Given the description of an element on the screen output the (x, y) to click on. 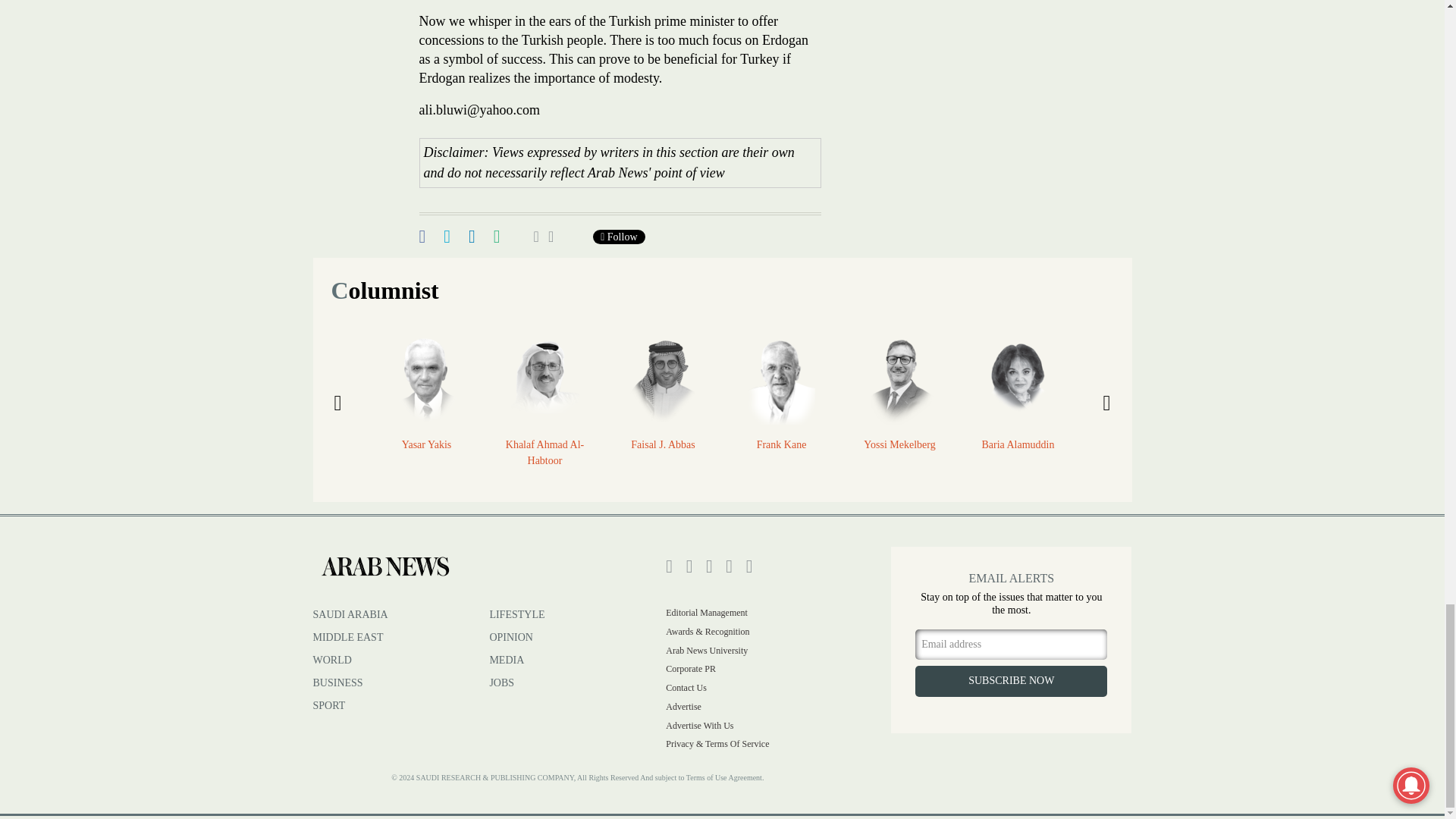
Arabnews (385, 566)
Subscribe Now (1010, 680)
